Given the description of an element on the screen output the (x, y) to click on. 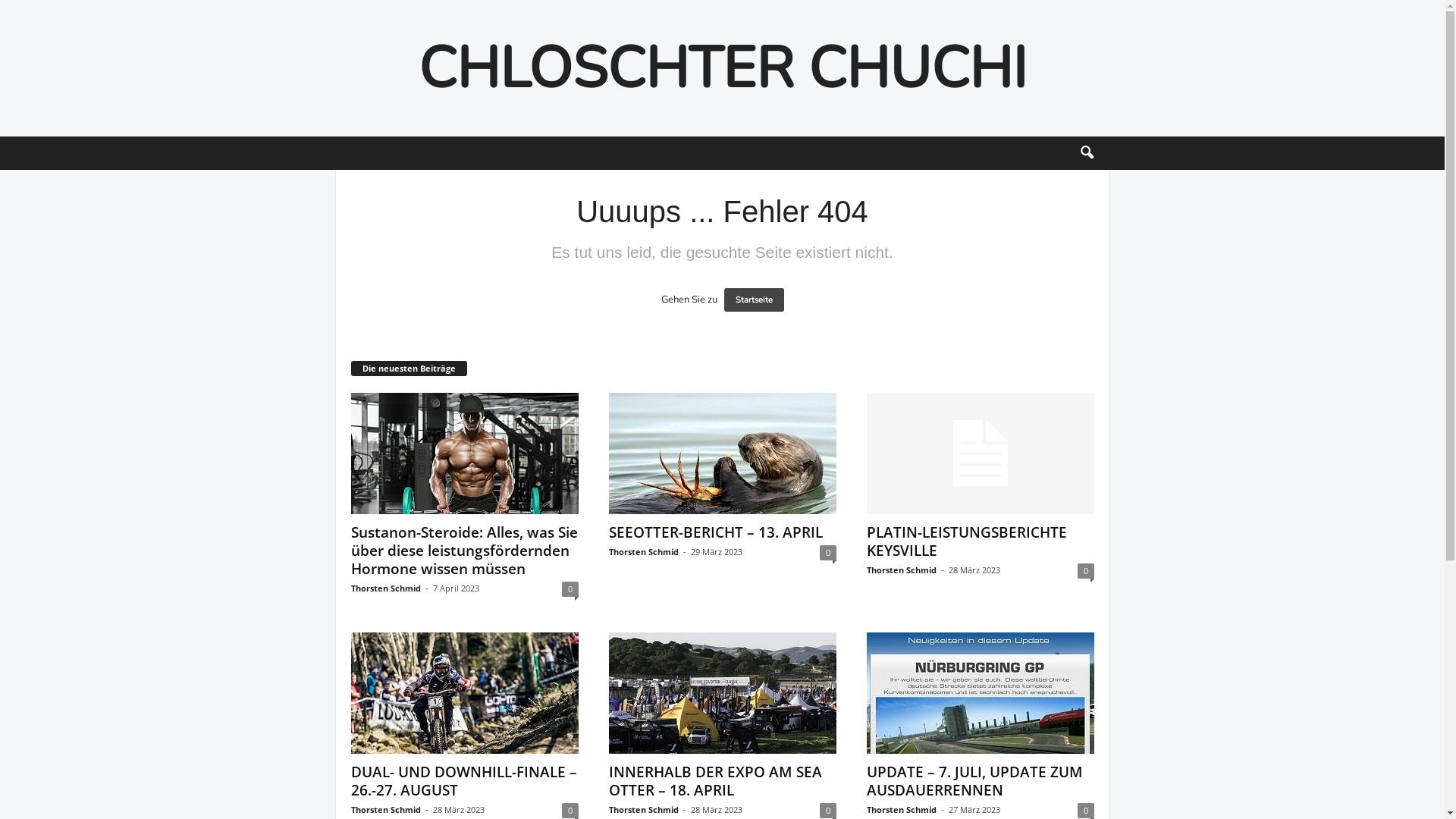
0 Element type: text (827, 552)
0 Element type: text (1085, 570)
PLATIN-LEISTUNGSBERICHTE KEYSVILLE Element type: hover (980, 453)
Thorsten Schmid Element type: text (643, 809)
Thorsten Schmid Element type: text (385, 587)
Startseite Element type: text (753, 299)
Thorsten Schmid Element type: text (901, 809)
Thorsten Schmid Element type: text (385, 809)
Thorsten Schmid Element type: text (643, 551)
0 Element type: text (827, 810)
Thorsten Schmid Element type: text (901, 569)
PLATIN-LEISTUNGSBERICHTE KEYSVILLE Element type: text (966, 541)
0 Element type: text (1085, 810)
0 Element type: text (569, 588)
CHLOSCHTER CHUCHI Element type: text (722, 68)
0 Element type: text (569, 810)
